Given the description of an element on the screen output the (x, y) to click on. 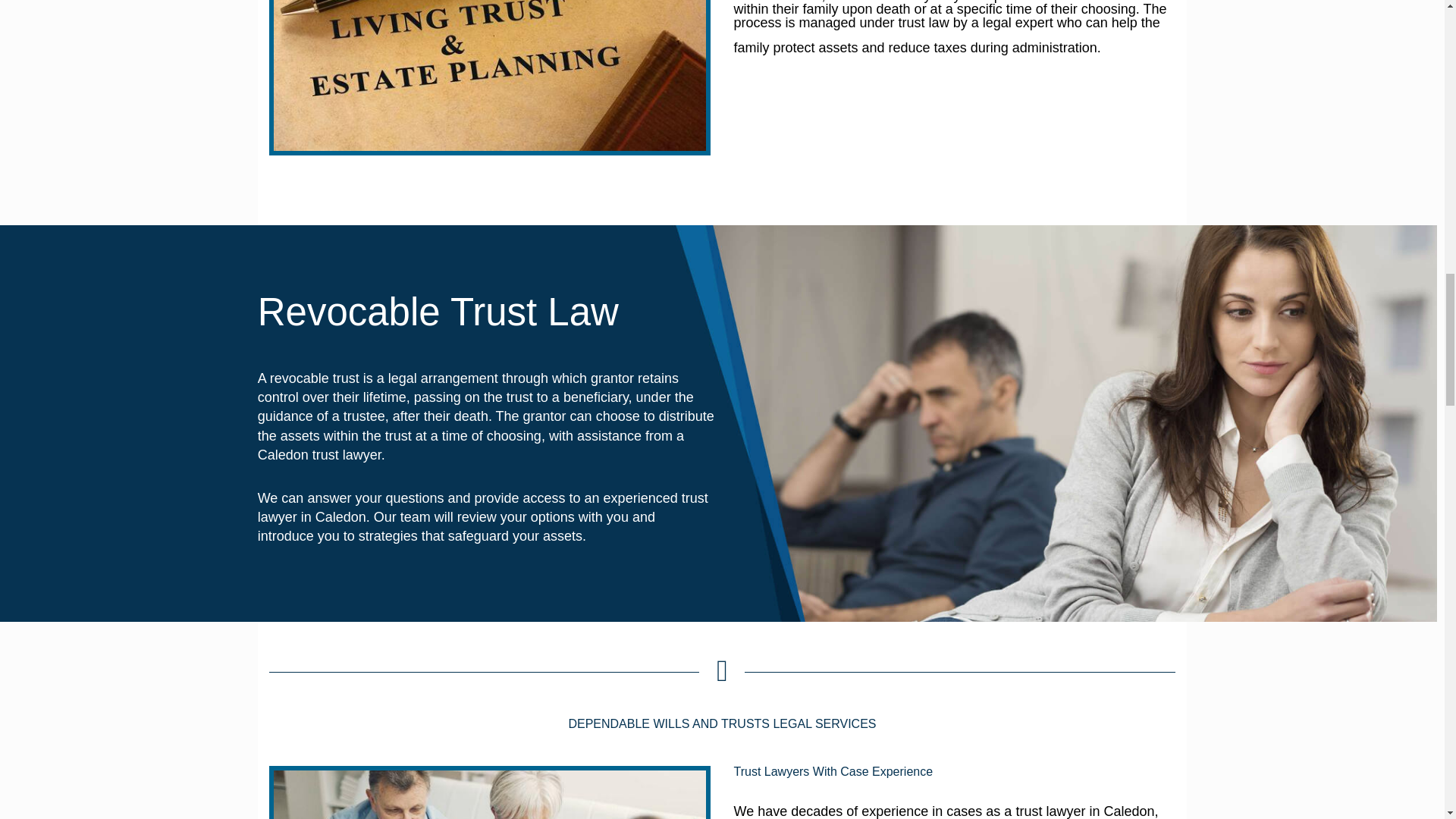
estates-lawyer (489, 794)
revocable-trust (489, 75)
